Given the description of an element on the screen output the (x, y) to click on. 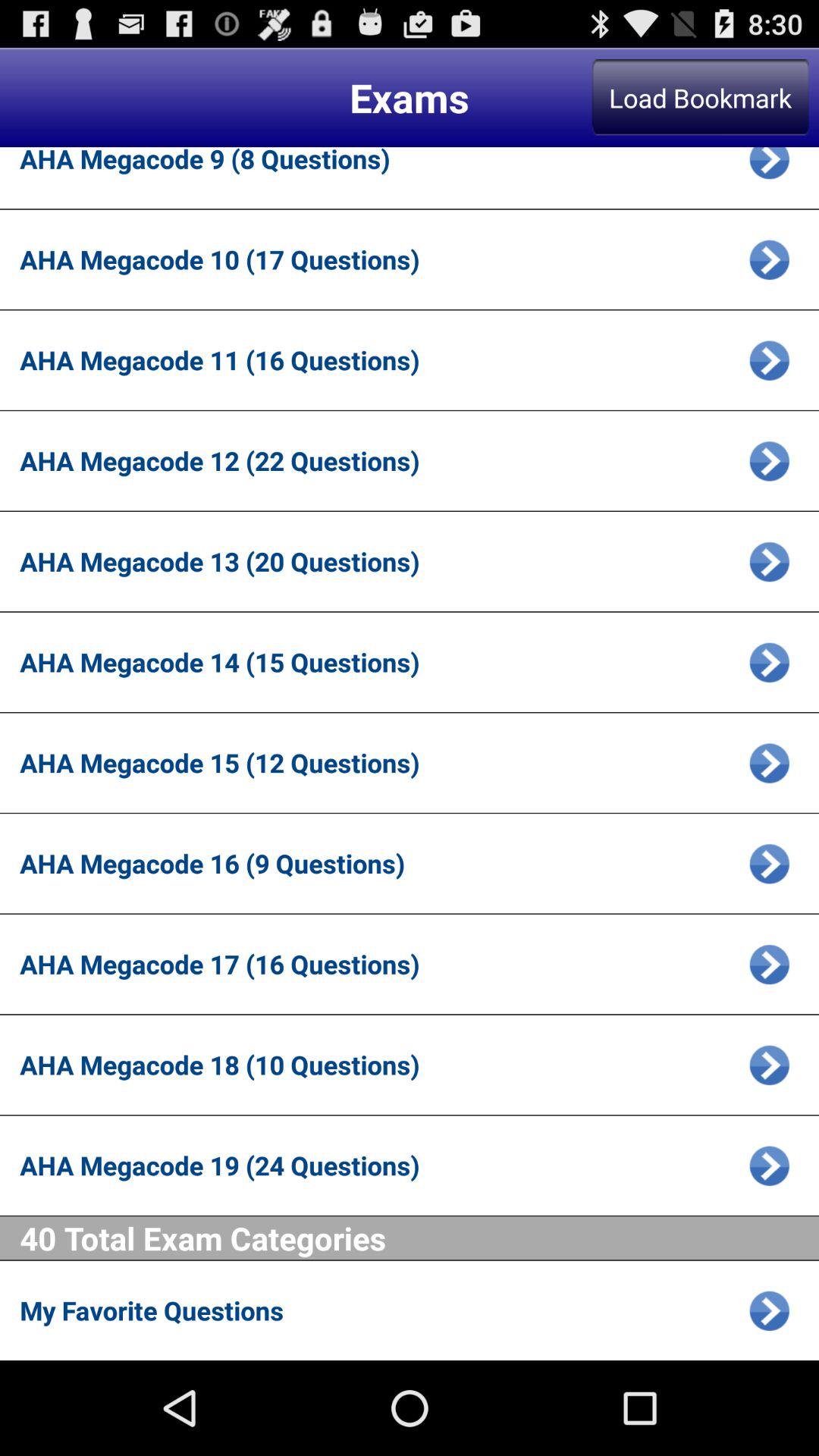
press the item above the aha megacode 9 (700, 97)
